Given the description of an element on the screen output the (x, y) to click on. 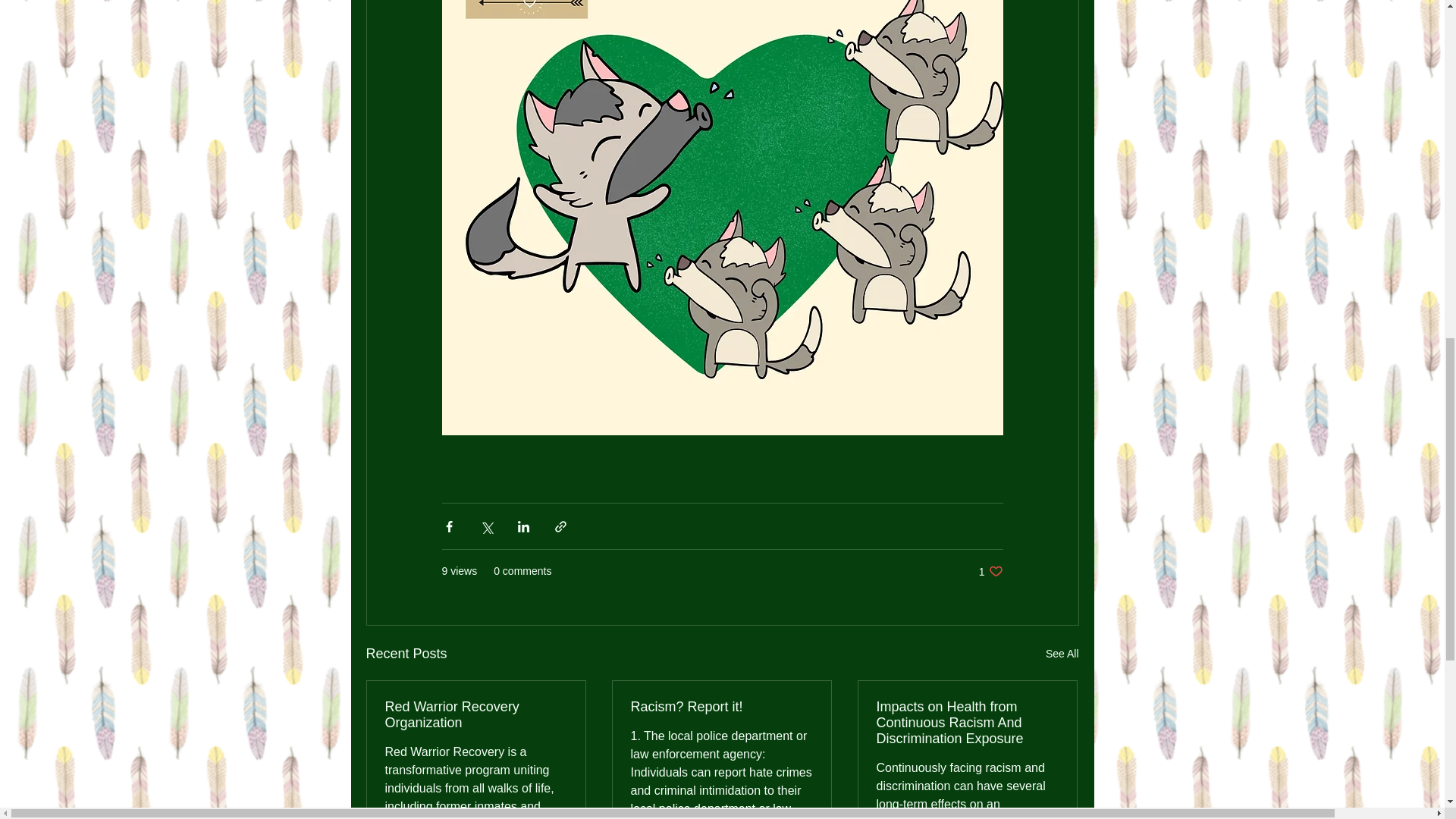
See All (990, 571)
Red Warrior Recovery Organization (1061, 653)
Racism? Report it! (476, 715)
